Given the description of an element on the screen output the (x, y) to click on. 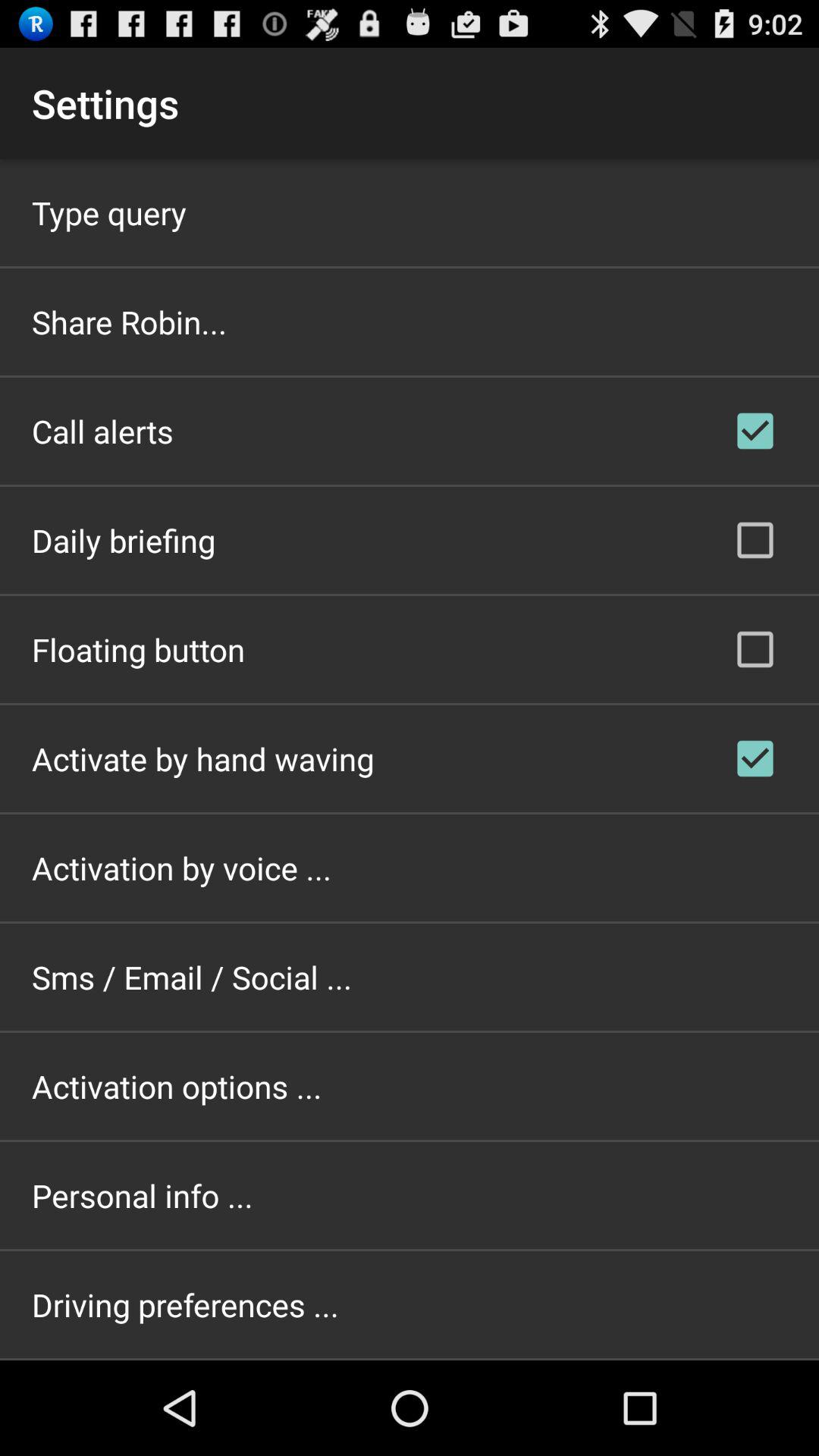
open the icon above daily briefing icon (102, 430)
